Given the description of an element on the screen output the (x, y) to click on. 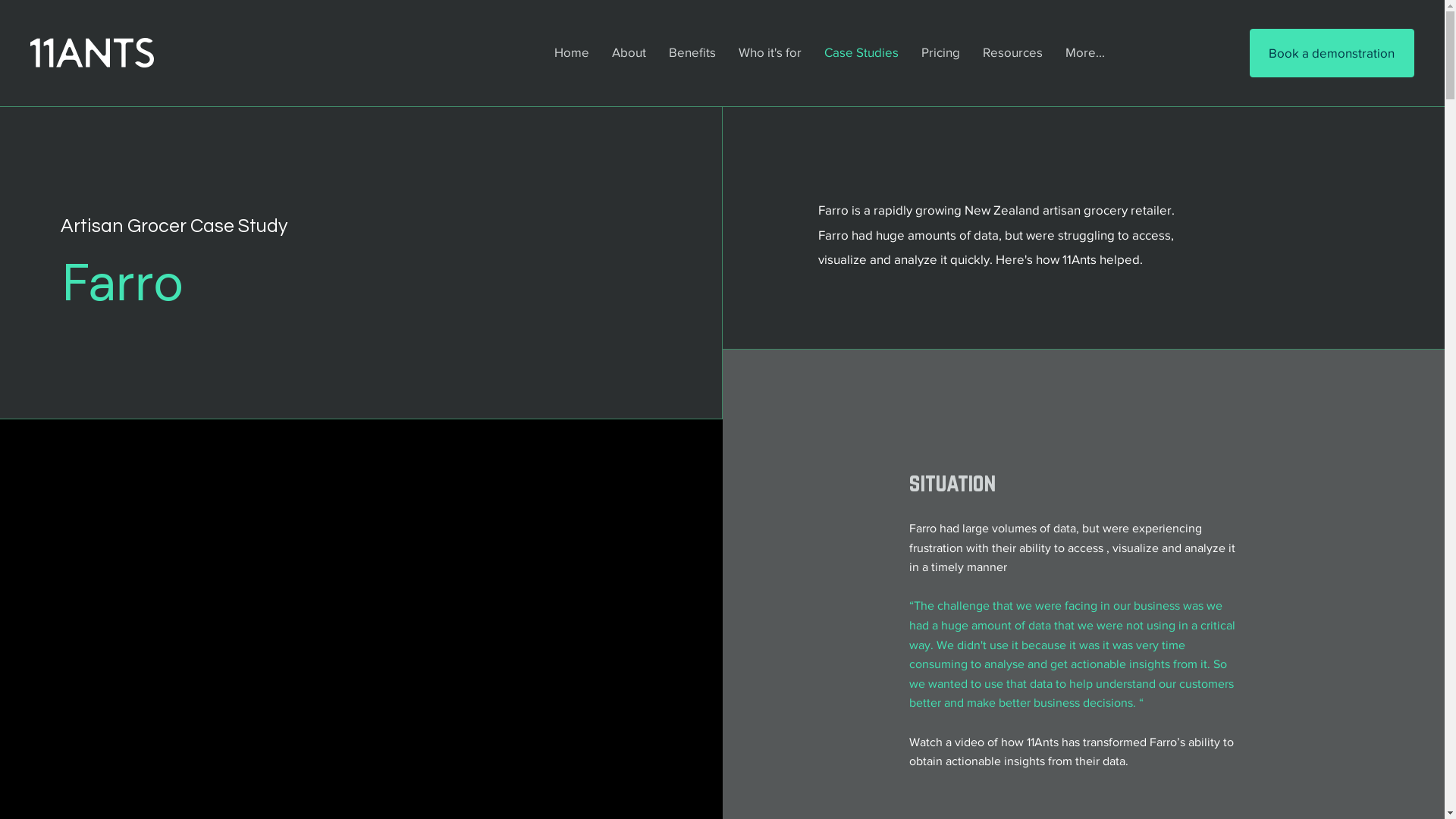
Book a demonstration Element type: text (1331, 52)
Benefits Element type: text (692, 51)
Case Studies Element type: text (861, 51)
Pricing Element type: text (940, 51)
About Element type: text (628, 51)
Home Element type: text (571, 51)
